Given the description of an element on the screen output the (x, y) to click on. 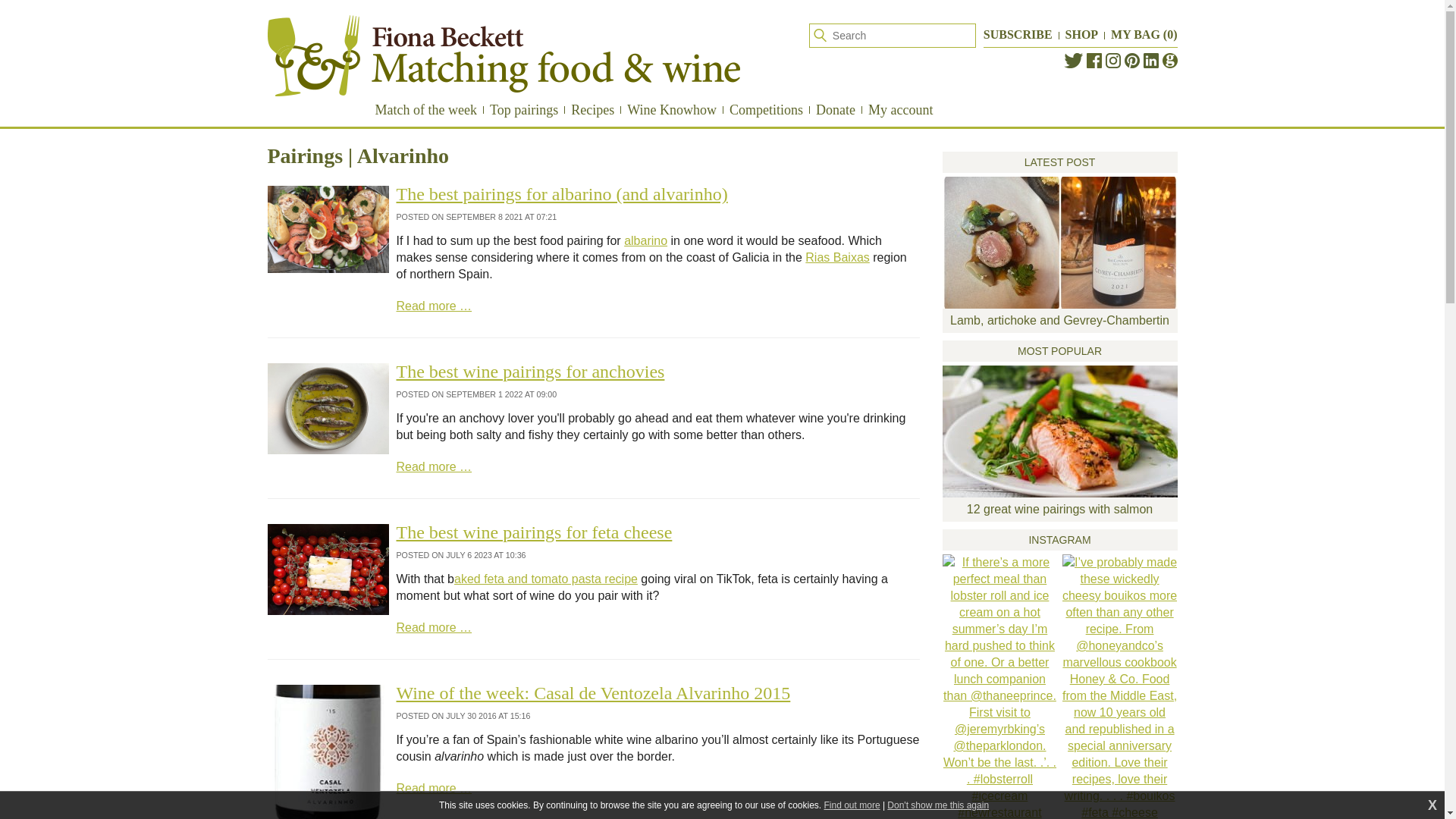
Rias Baixas (837, 256)
Competitions (766, 109)
Donate (835, 109)
Wine Knowhow (671, 109)
Top pairings (523, 109)
Recipes (592, 109)
SHOP (1082, 33)
albarino (645, 240)
SUBSCRIBE (1018, 33)
My account (900, 109)
Match of the week (425, 109)
